Given the description of an element on the screen output the (x, y) to click on. 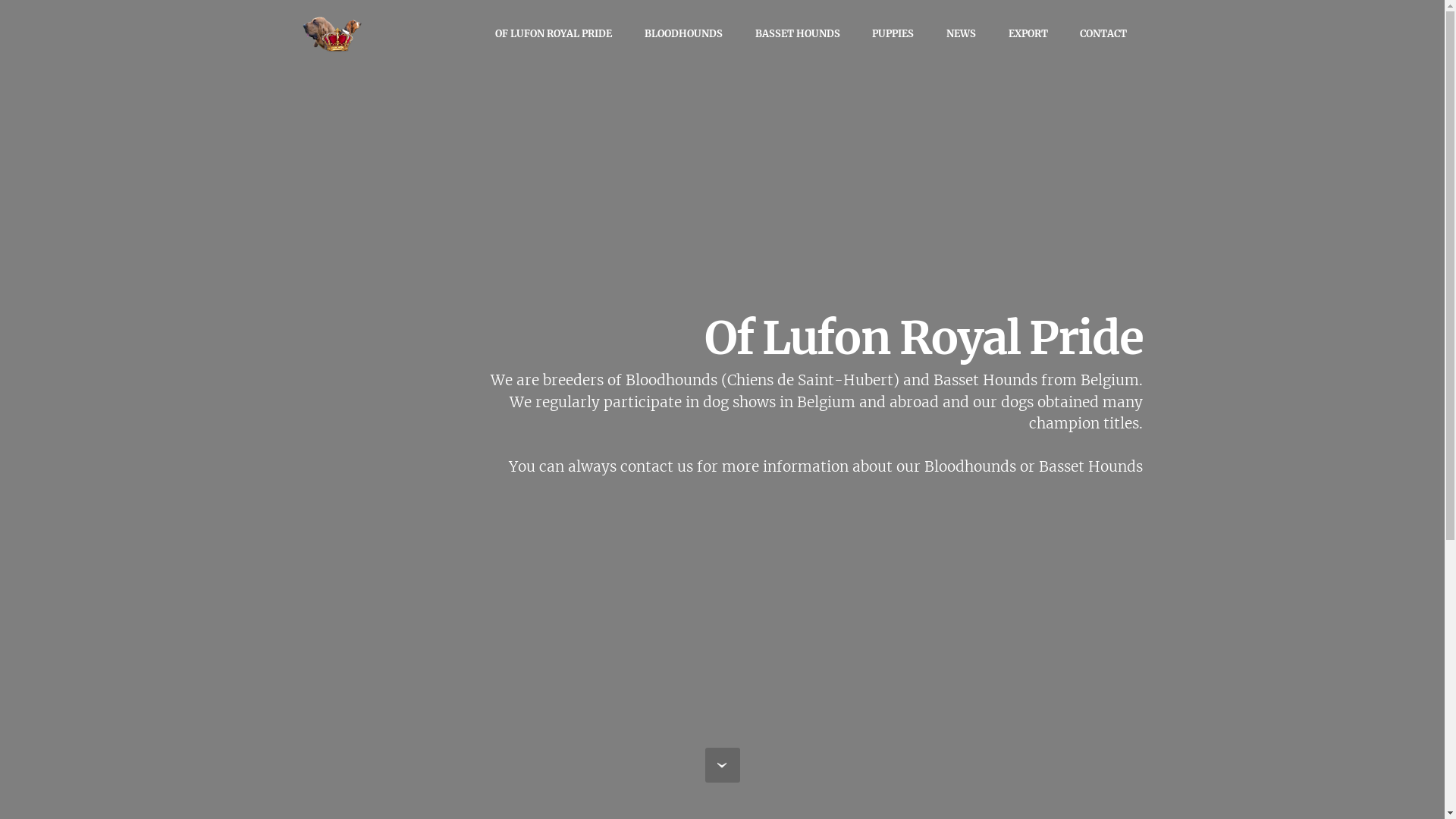
EXPORT Element type: text (1028, 33)
PUPPIES Element type: text (892, 33)
CONTACT Element type: text (1102, 33)
BLOODHOUNDS Element type: text (683, 33)
BASSET HOUNDS Element type: text (797, 33)
OF LUFON ROYAL PRIDE Element type: text (553, 33)
NEWS Element type: text (960, 33)
